Given the description of an element on the screen output the (x, y) to click on. 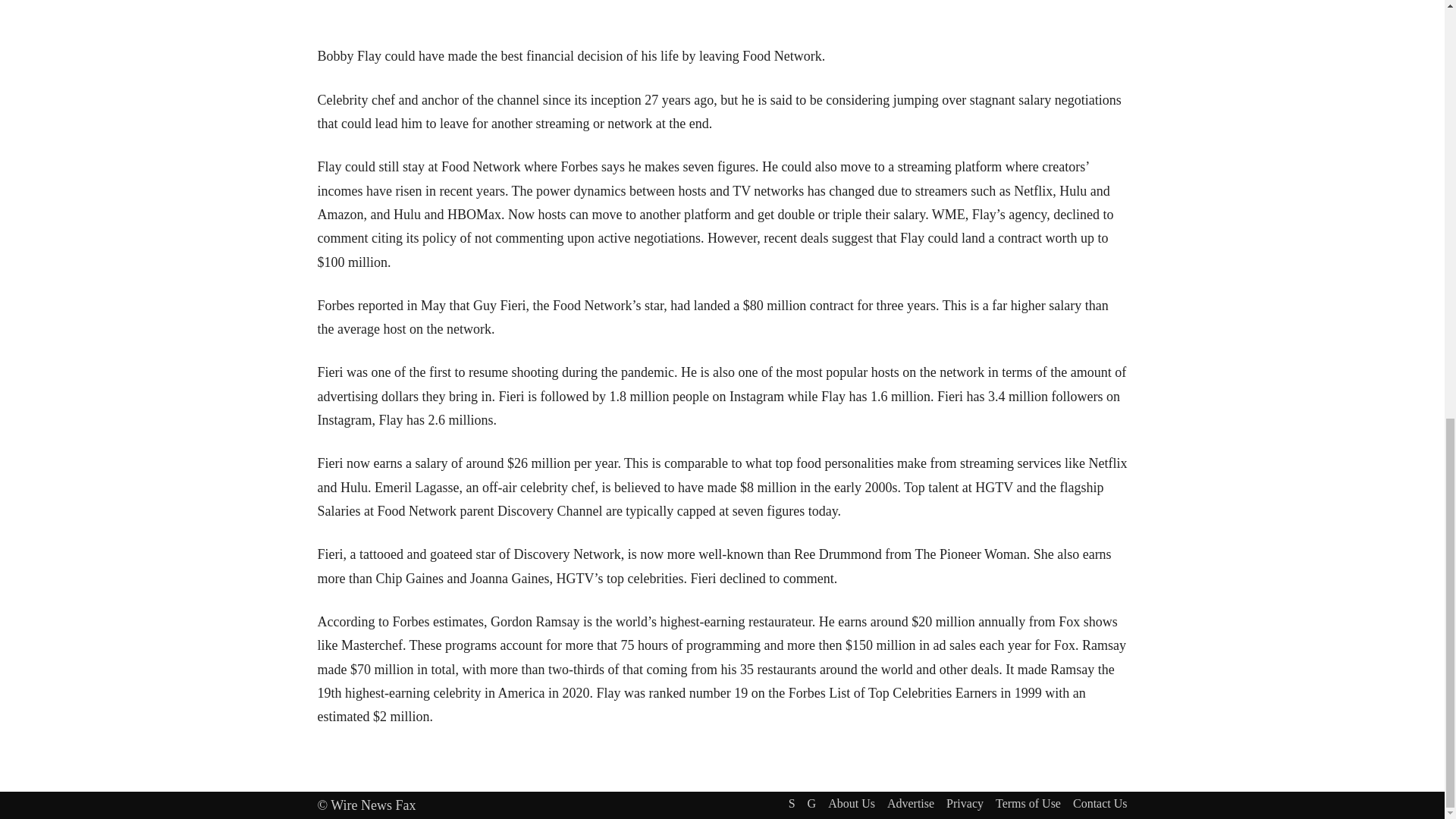
Terms of Use (1028, 802)
About Us (851, 802)
Privacy (965, 802)
Contact Us (1099, 802)
Advertise (910, 802)
